Given the description of an element on the screen output the (x, y) to click on. 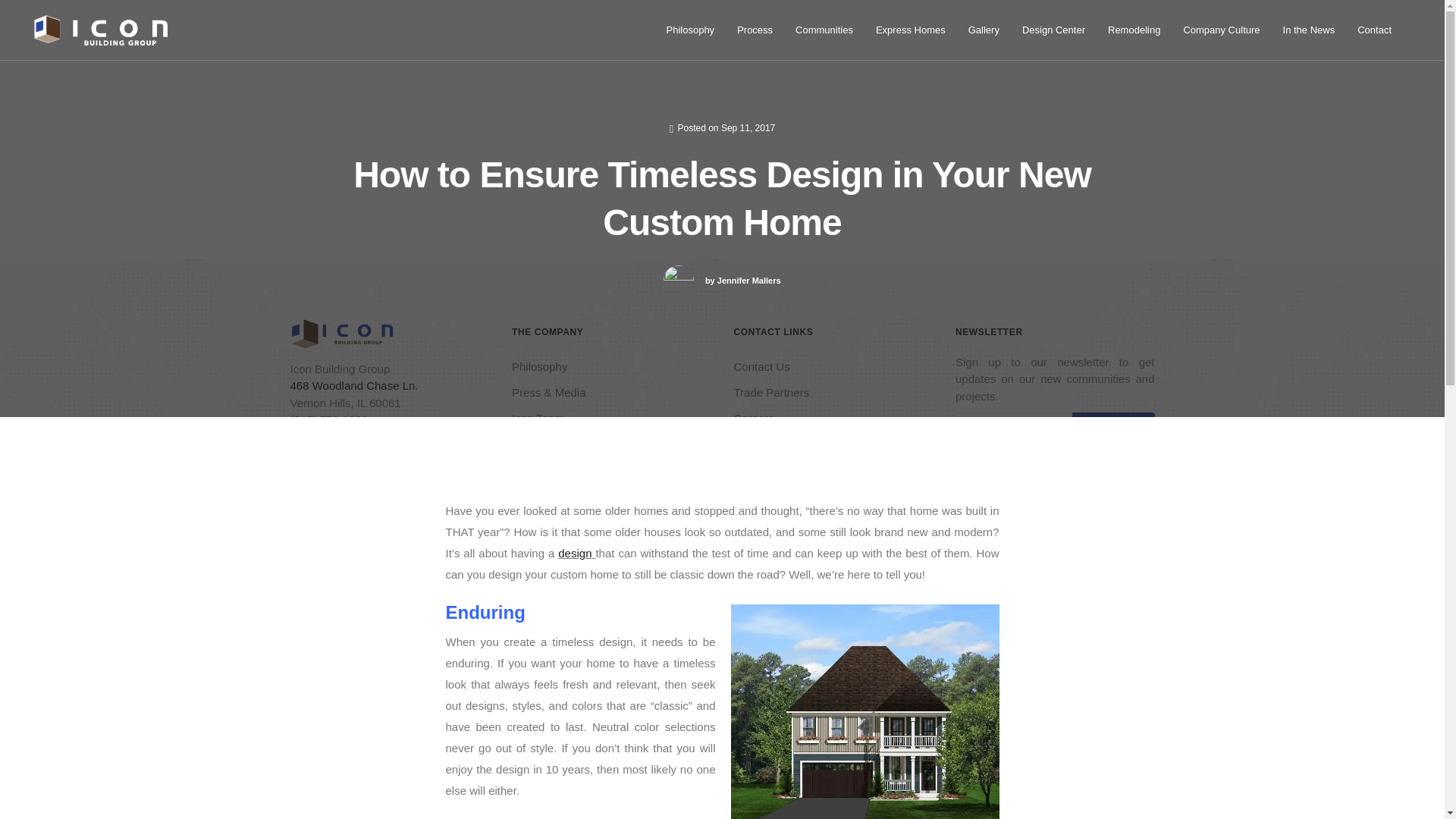
Contact (1374, 30)
Sep 11, 2017 (747, 127)
by Jennifer Mallers (742, 280)
Philosophy (539, 365)
Process (754, 30)
Remodeling (1134, 30)
Company Culture (1221, 30)
In the News (1308, 30)
Philosophy (690, 30)
468 Woodland Chase Ln. (353, 385)
